Given the description of an element on the screen output the (x, y) to click on. 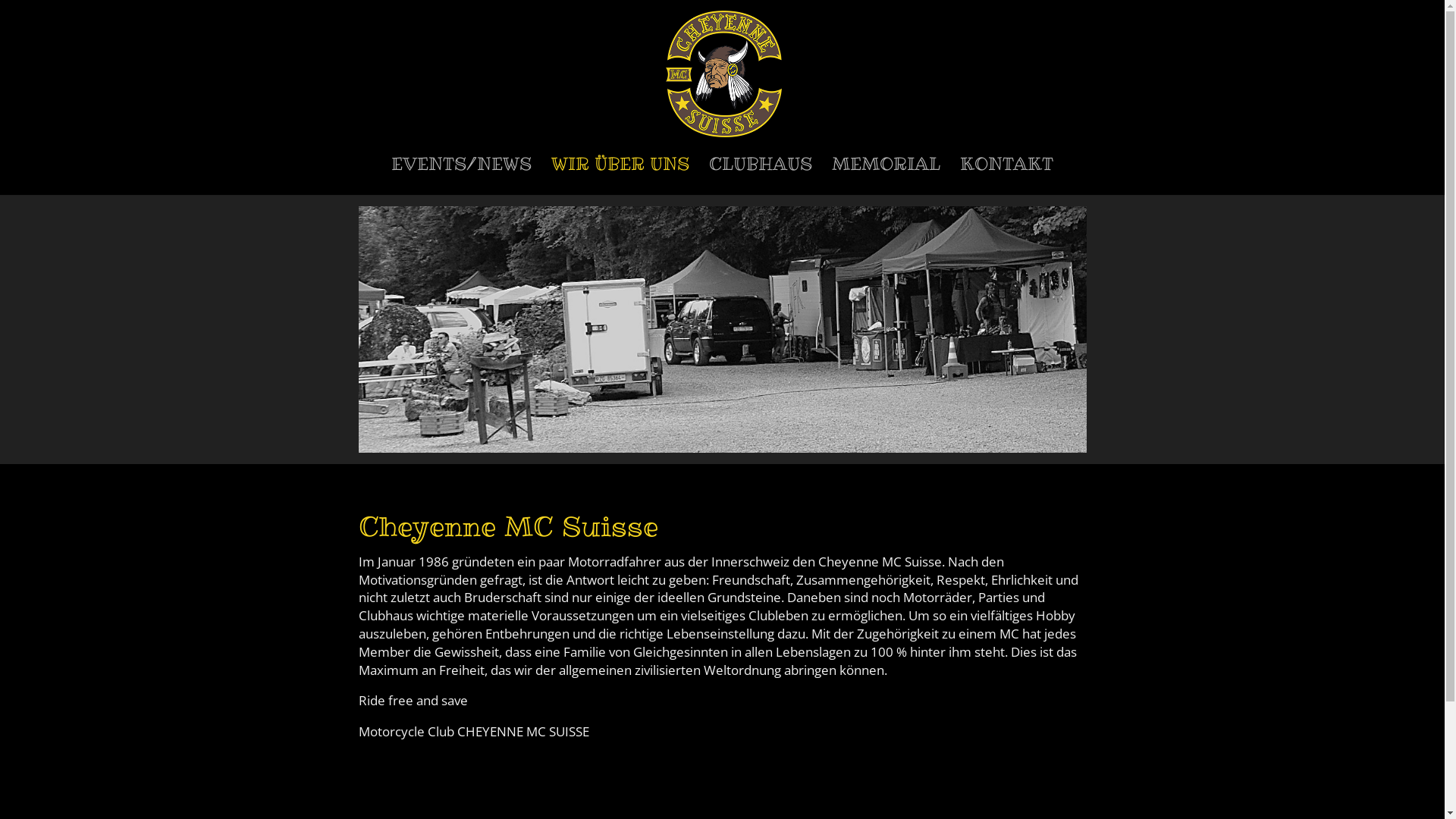
KONTAKT Element type: text (1006, 176)
CLUBHAUS Element type: text (760, 176)
EVENTS/NEWS Element type: text (461, 176)
MEMORIAL Element type: text (885, 176)
